Given the description of an element on the screen output the (x, y) to click on. 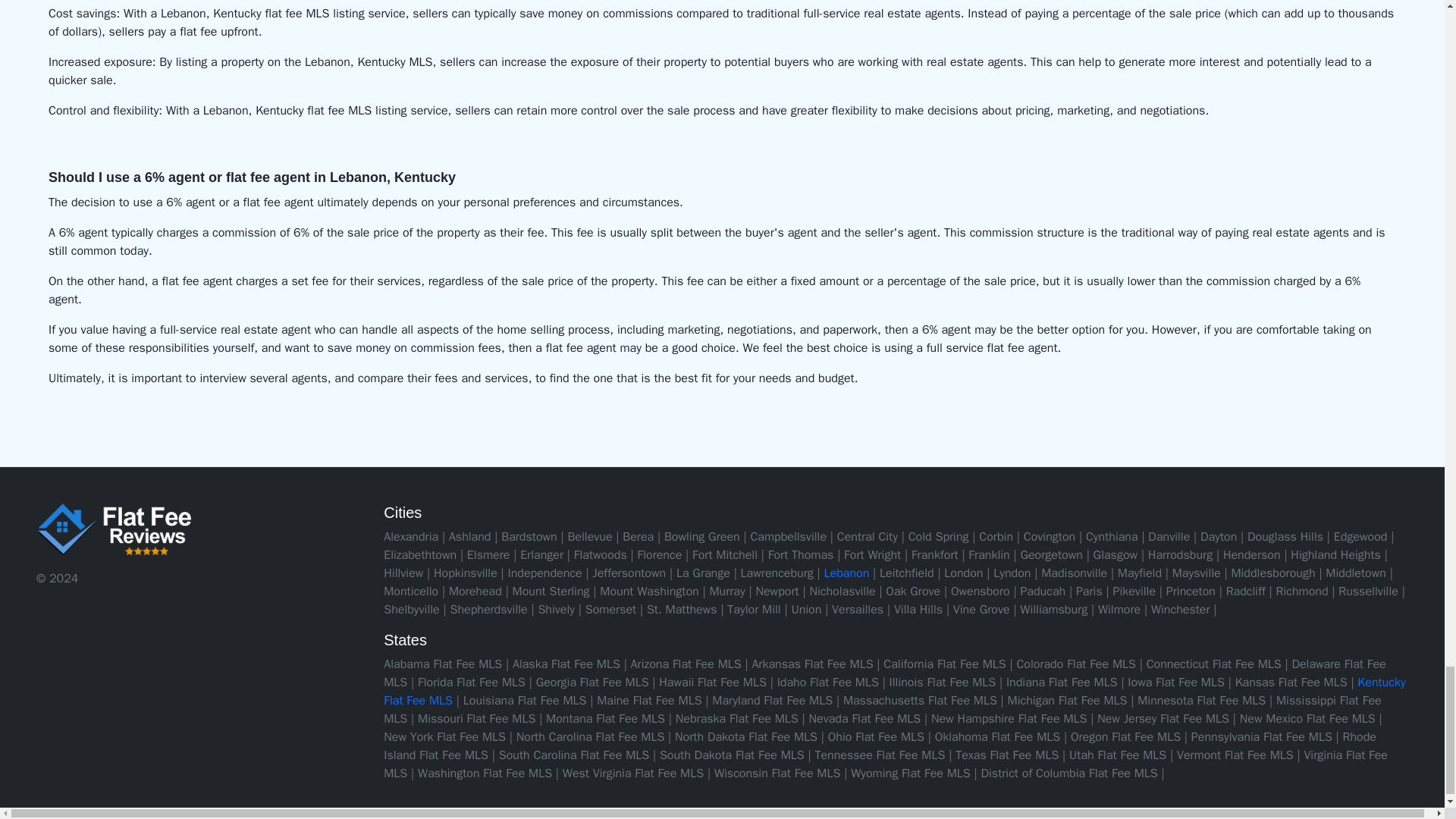
Bellevue (589, 536)
Ashland (470, 536)
Central City (867, 536)
Campbellsville (788, 536)
Alexandria (411, 536)
Bowling Green (701, 536)
Berea (638, 536)
Bardstown (528, 536)
